Given the description of an element on the screen output the (x, y) to click on. 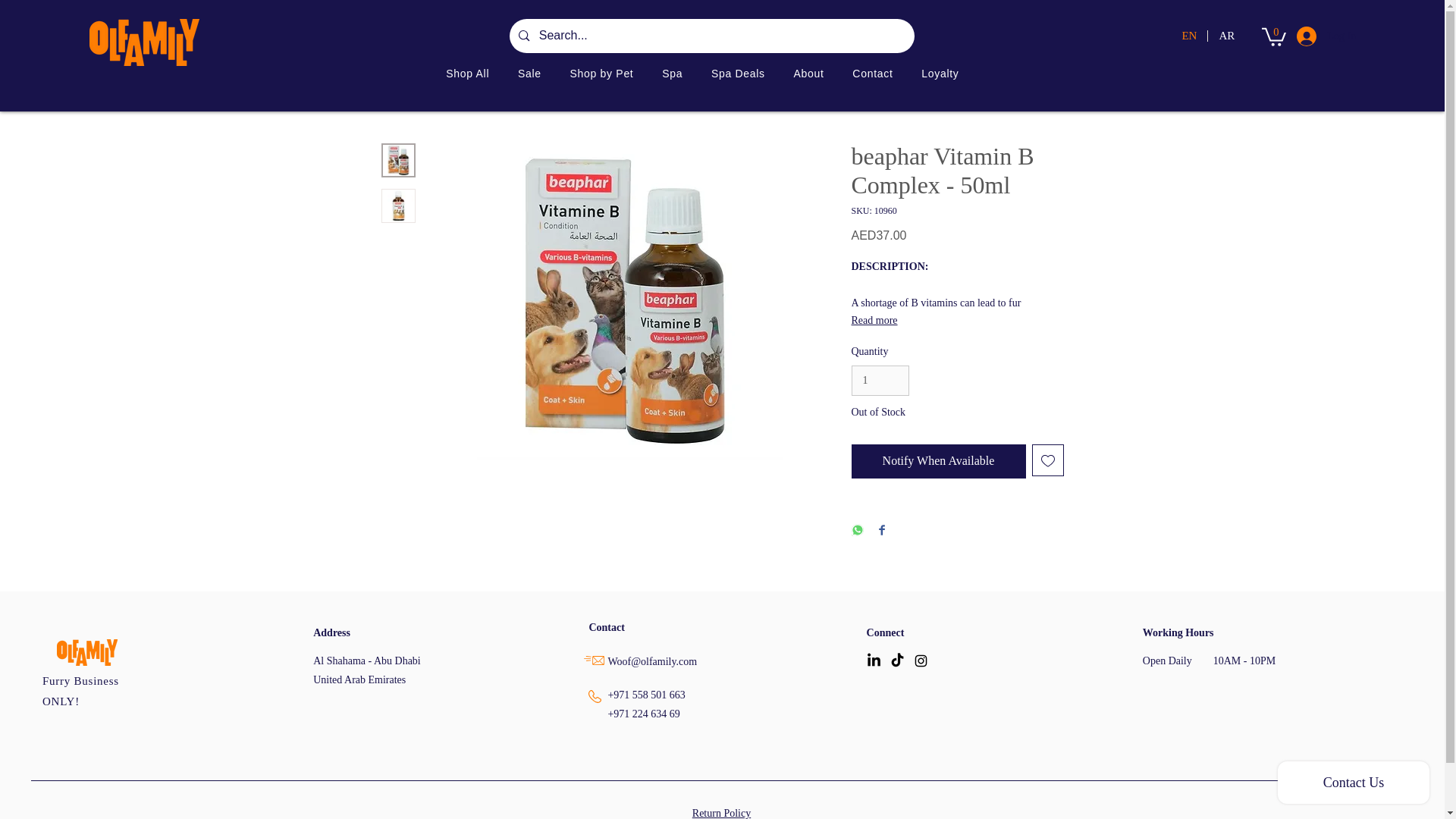
0 (1273, 35)
Contact (872, 72)
Notify When Available (937, 461)
AR (1225, 35)
Sale (529, 72)
Shop All (466, 72)
Spa Deals (738, 72)
Return Policy (722, 813)
Read more (956, 320)
1 (879, 380)
EN (1188, 35)
Spa (672, 72)
Log In (1312, 36)
Olfamily Pets Logo (143, 42)
About (809, 72)
